Given the description of an element on the screen output the (x, y) to click on. 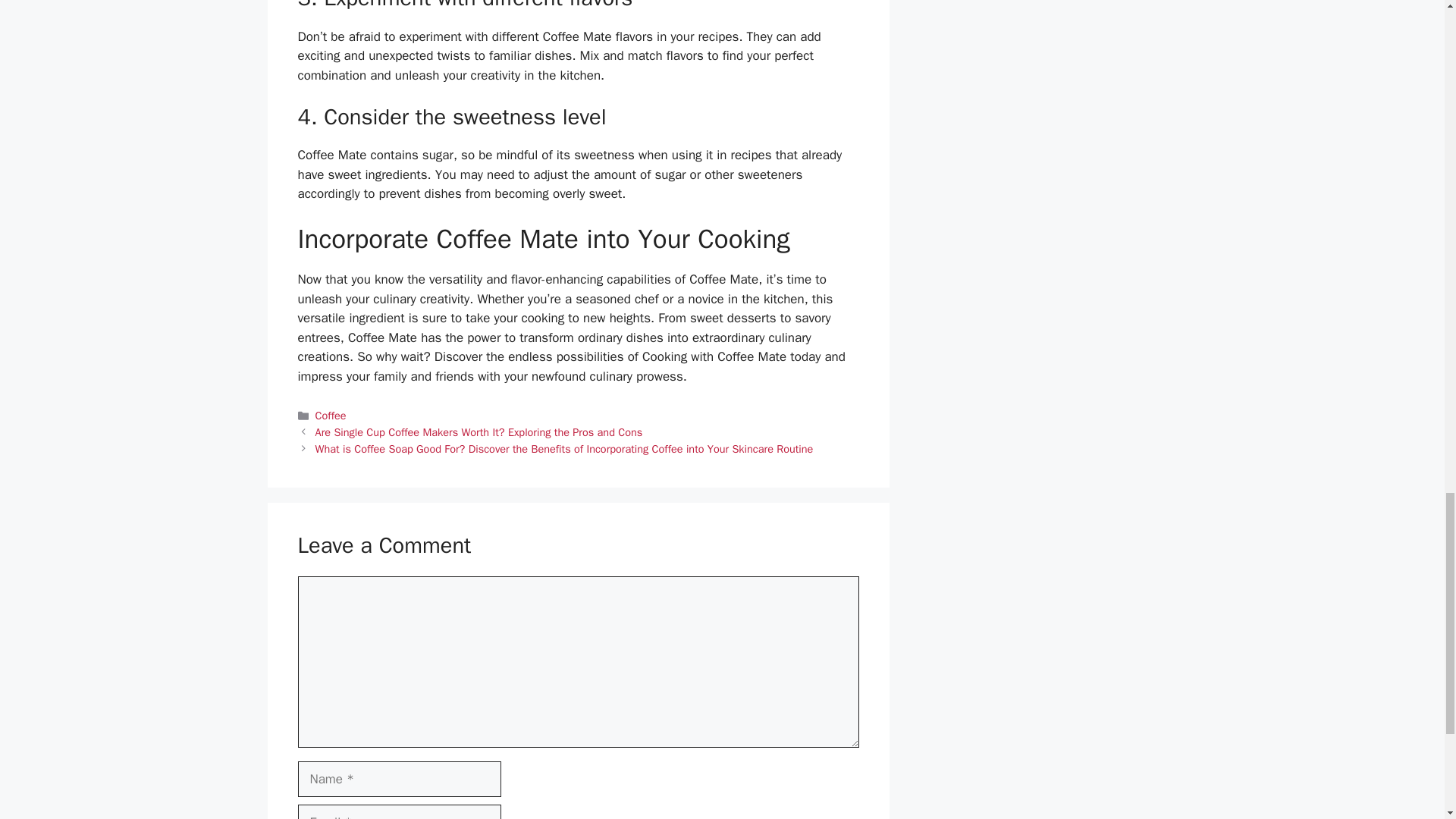
Coffee (330, 415)
